Given the description of an element on the screen output the (x, y) to click on. 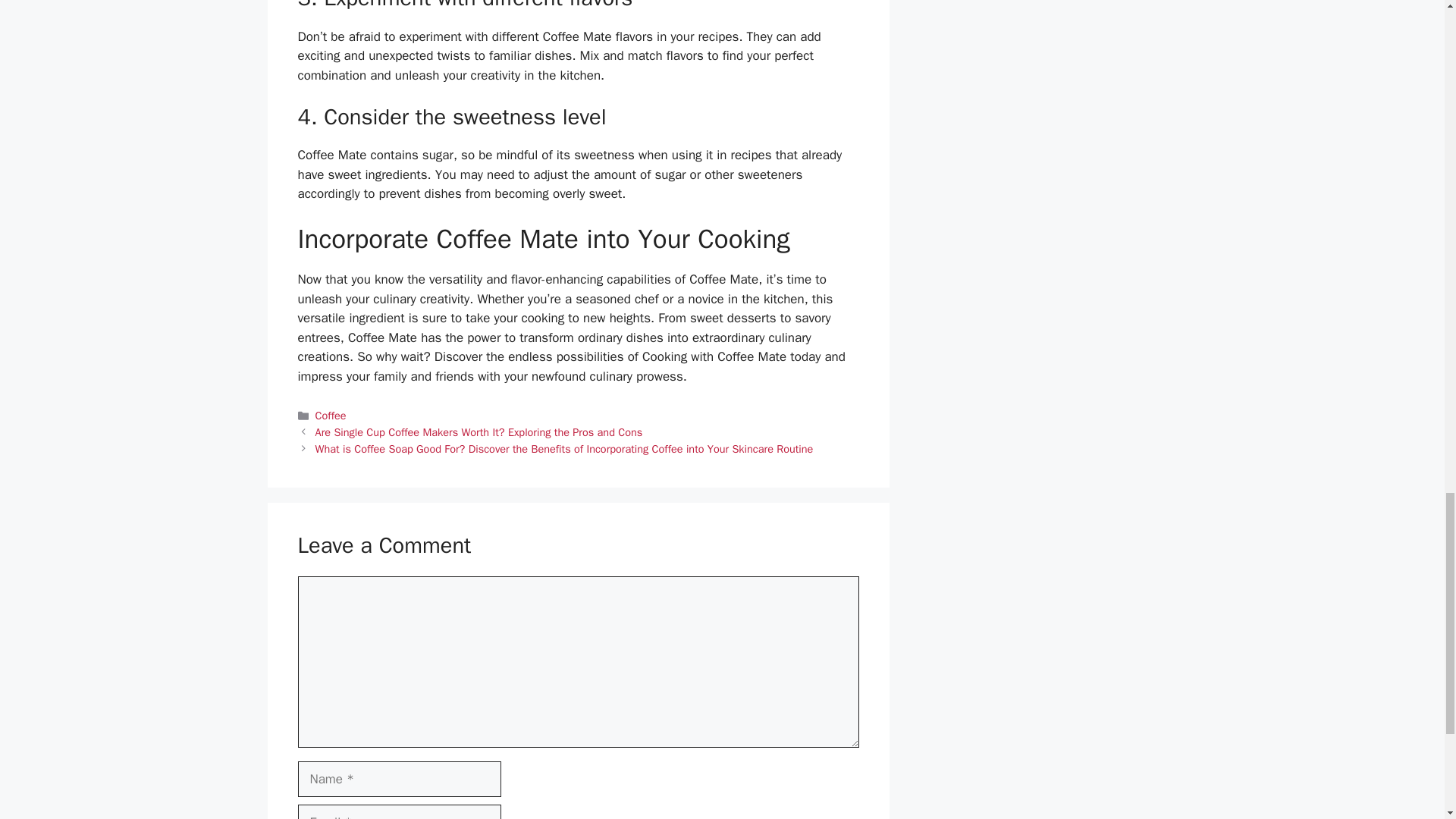
Coffee (330, 415)
